Given the description of an element on the screen output the (x, y) to click on. 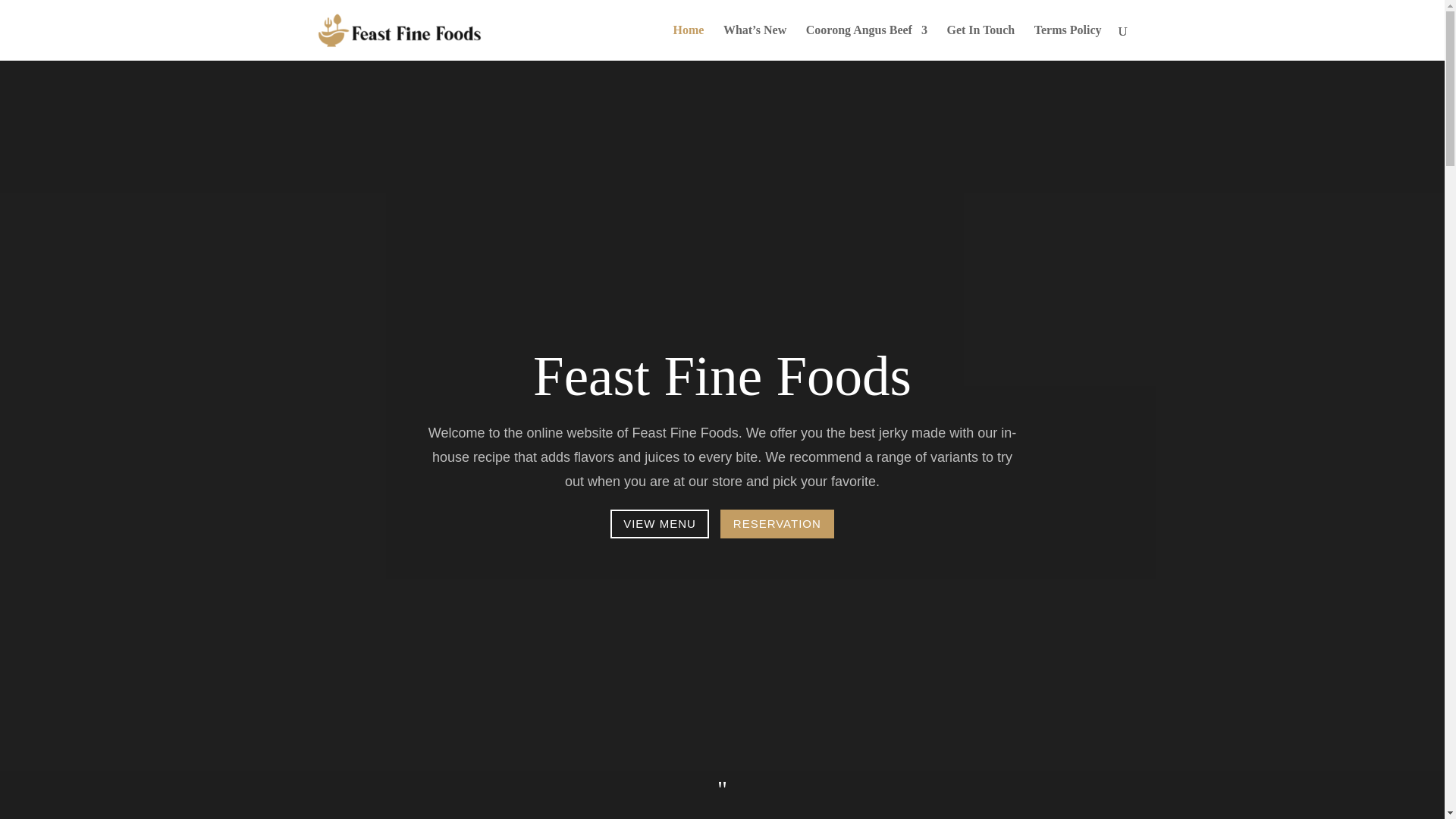
Get In Touch (980, 42)
" (721, 790)
Coorong Angus Beef (866, 42)
VIEW MENU (659, 523)
Home (688, 42)
" (721, 789)
RESERVATION (777, 523)
" (721, 790)
Terms Policy (1067, 42)
